Given the description of an element on the screen output the (x, y) to click on. 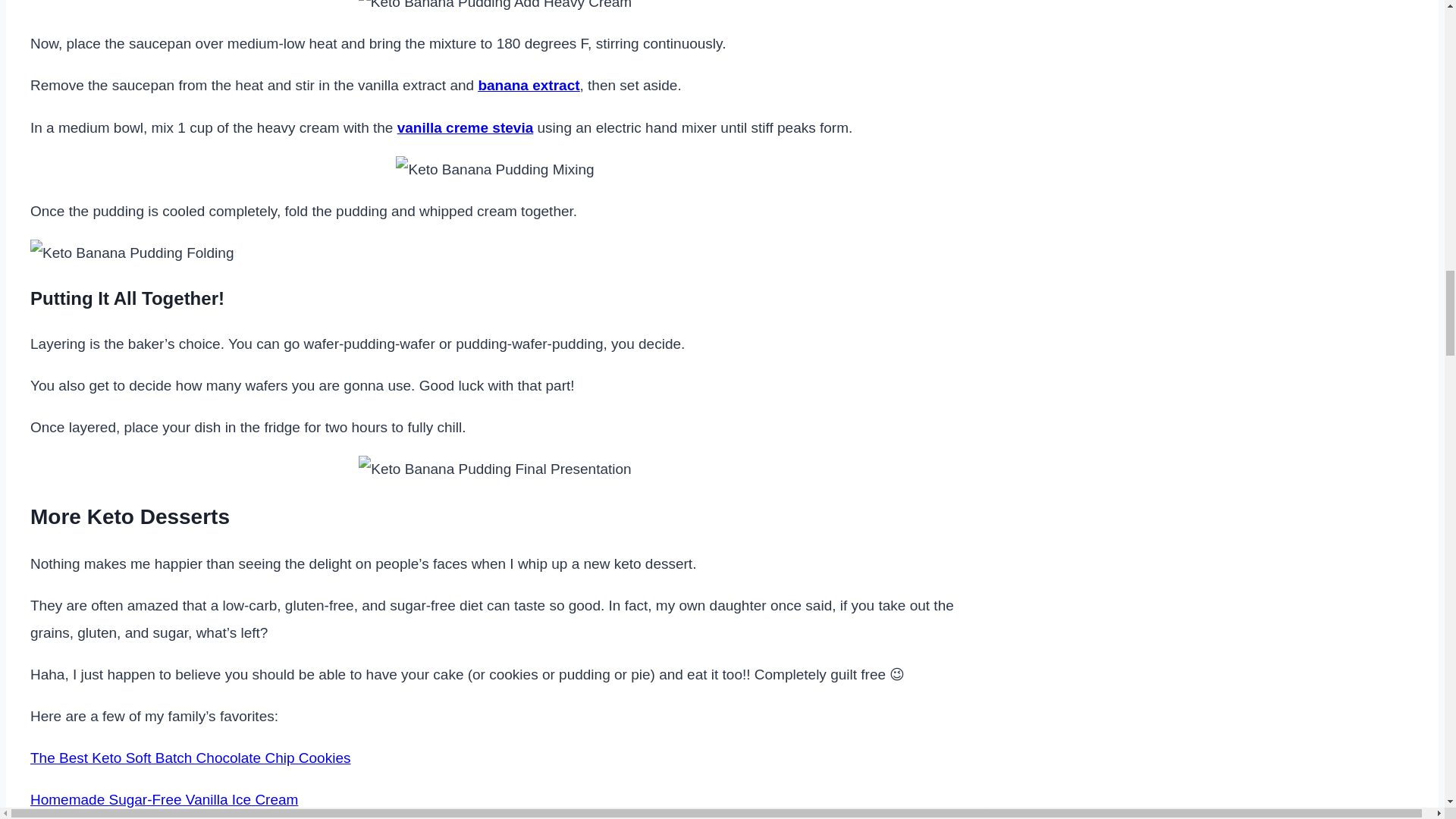
banana extract (528, 84)
The Best Keto Soft Batch Chocolate Chip Cookies (190, 757)
vanilla creme stevia (465, 127)
Homemade Sugar-Free Vanilla Ice Cream (164, 799)
